Given the description of an element on the screen output the (x, y) to click on. 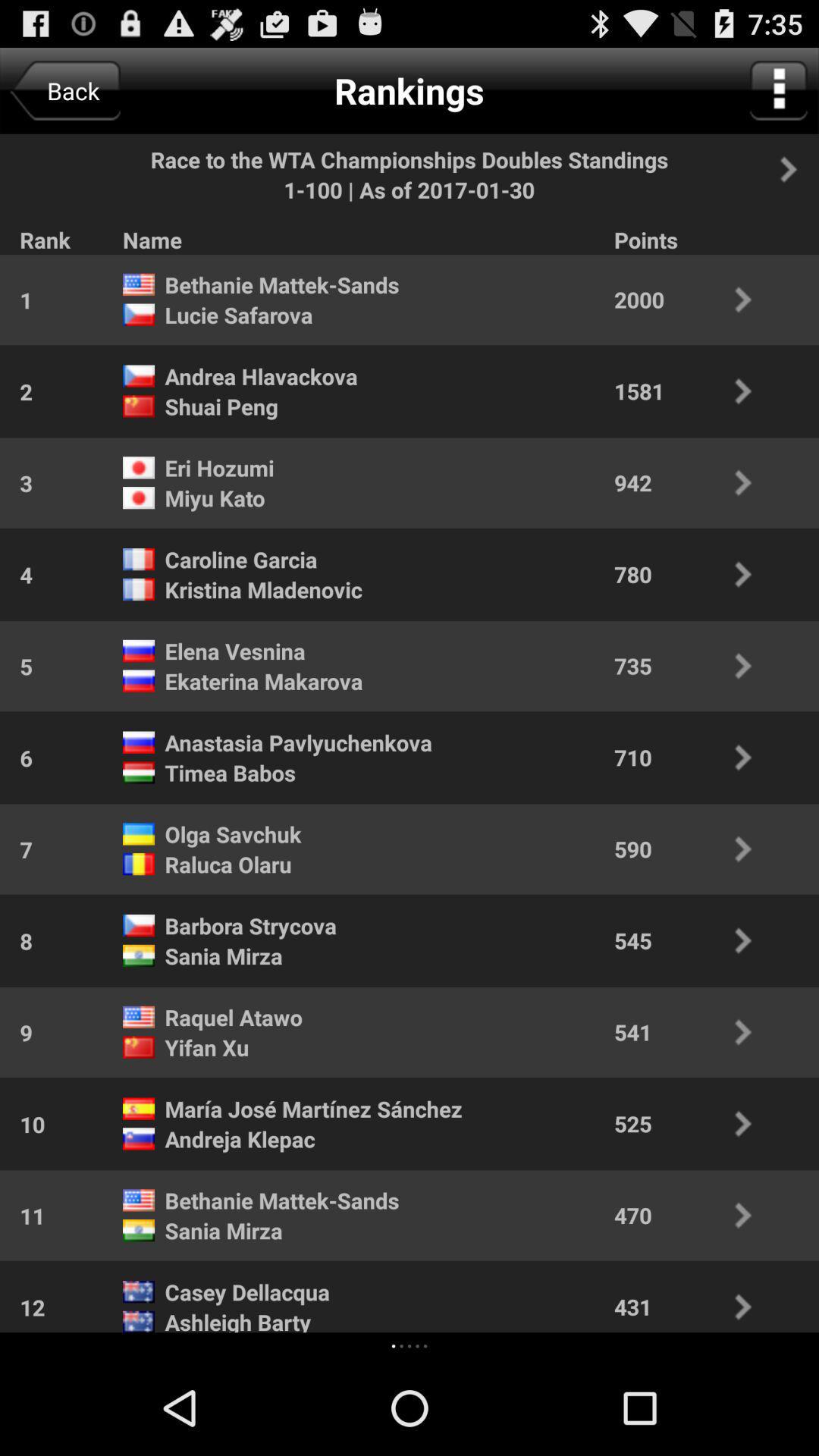
go to arrow (797, 169)
